Given the description of an element on the screen output the (x, y) to click on. 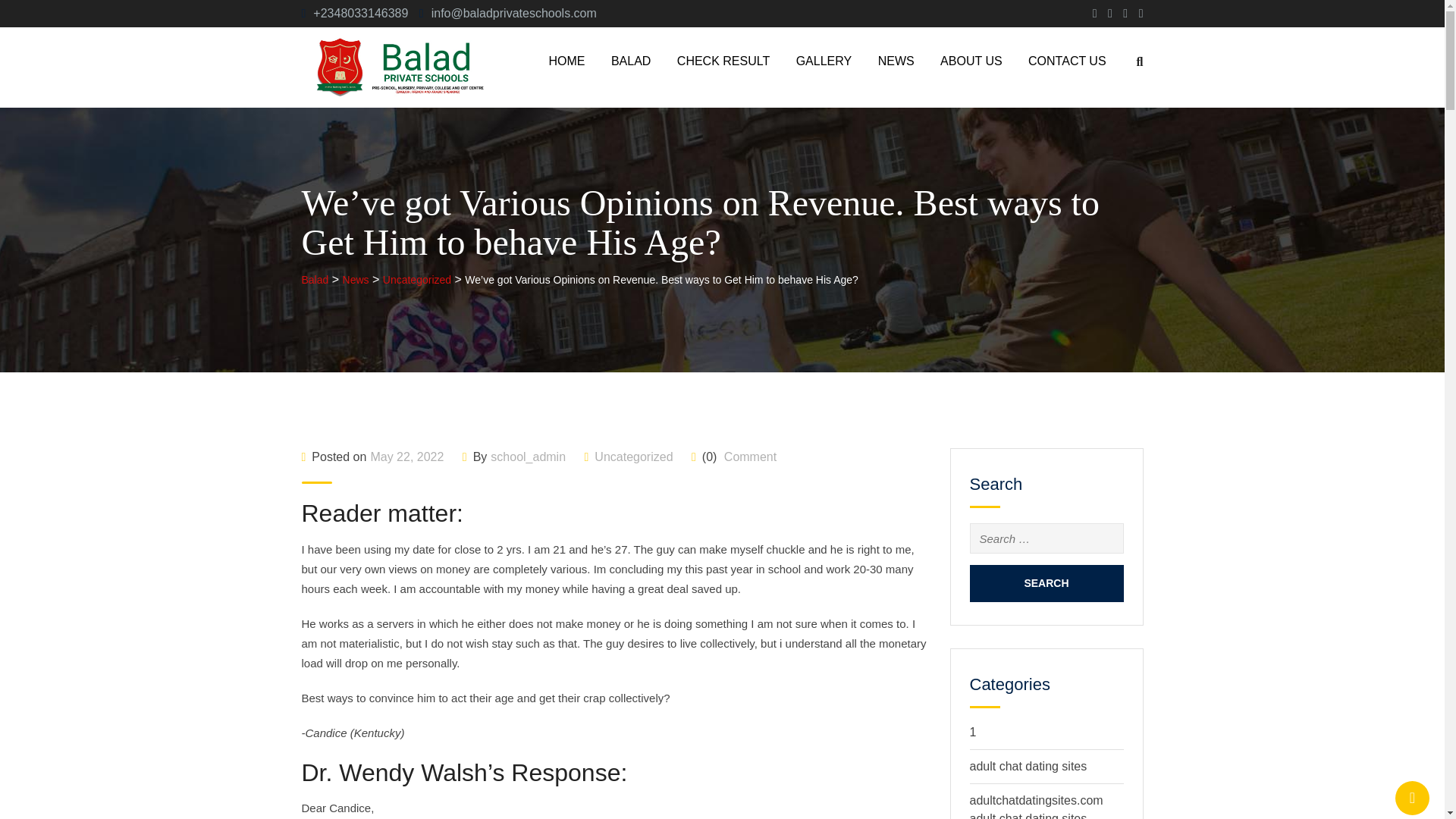
ABOUT US (970, 61)
Search (1045, 583)
Balad (315, 279)
Search (1045, 583)
Go to Balad. (315, 279)
CONTACT US (1067, 61)
CHECK RESULT (722, 61)
BALAD (630, 61)
News (355, 279)
Uncategorized (416, 279)
